Given the description of an element on the screen output the (x, y) to click on. 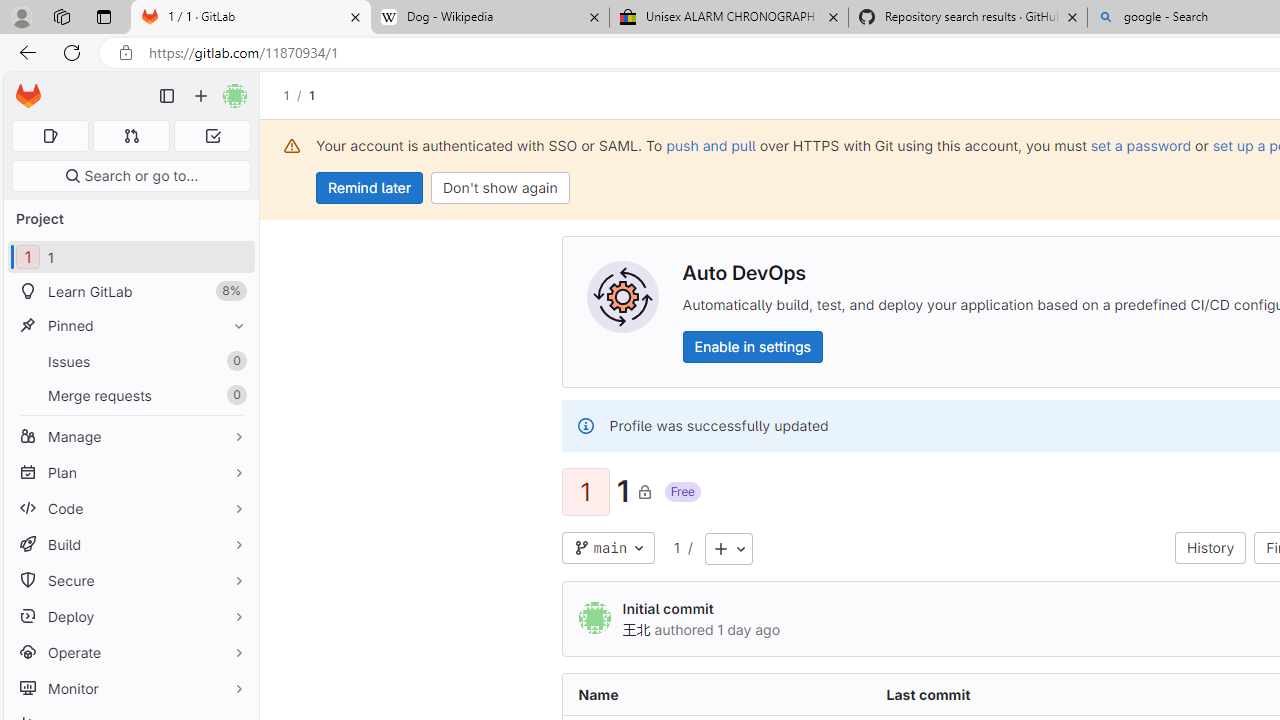
Unpin Merge requests (234, 395)
Operate (130, 651)
Class: s16 gl-alert-icon gl-alert-icon-no-title (585, 426)
Initial commit (668, 608)
Assigned issues 0 (50, 136)
Code (130, 507)
To-Do list 0 (212, 136)
Skip to main content (23, 87)
Enable in settings (752, 346)
Refresh (72, 52)
Pinned (130, 325)
Plan (130, 471)
History (1209, 547)
